Given the description of an element on the screen output the (x, y) to click on. 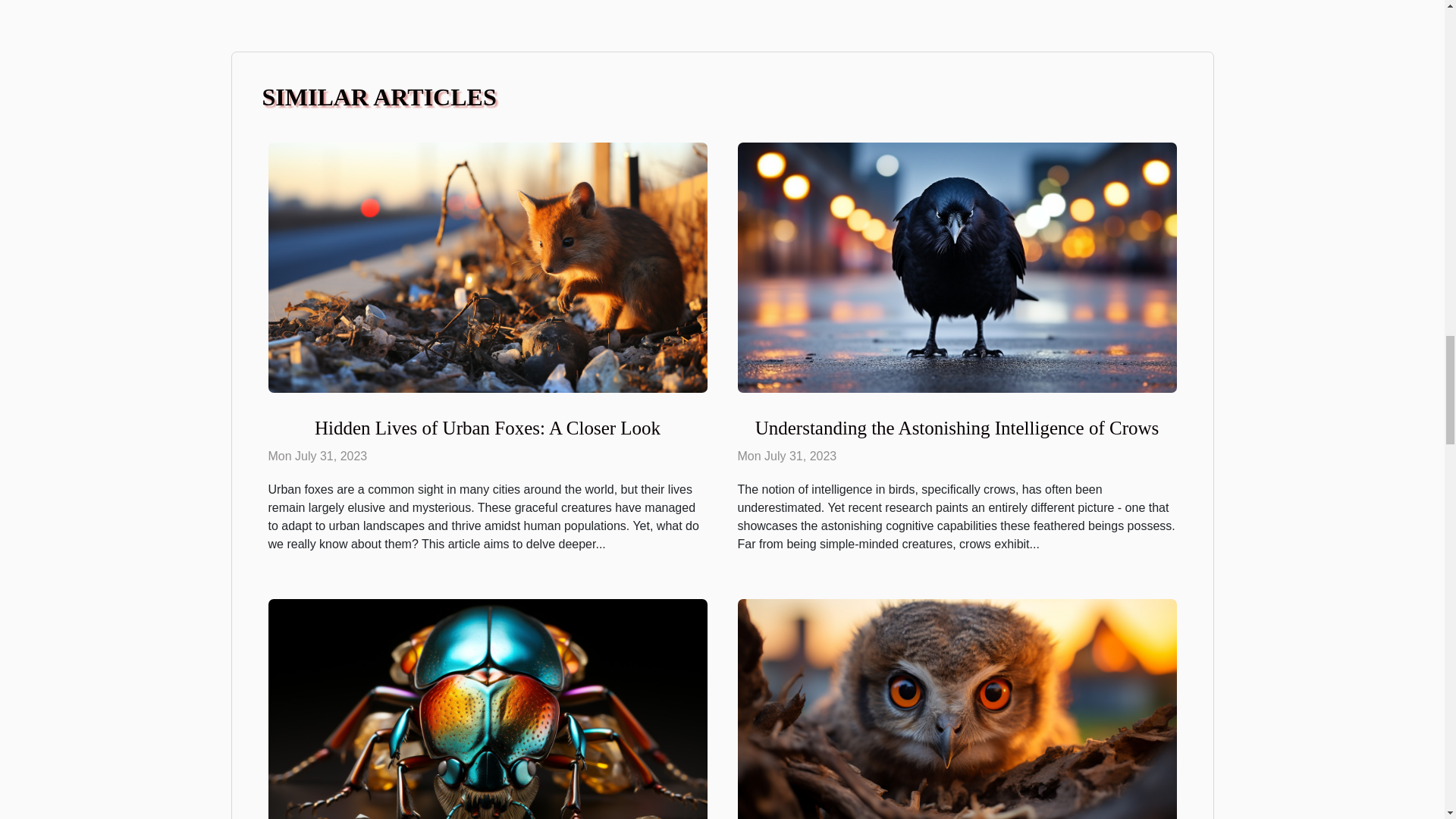
Hidden Lives of Urban Foxes: A Closer Look (487, 427)
Understanding the Astonishing Intelligence of Crows (956, 427)
Living Jewels: The Colorful World of Beetles (487, 723)
Fascinating Night Habits of Owls: Beyond the Hooting (956, 723)
Hidden Lives of Urban Foxes: A Closer Look (487, 427)
Understanding the Astonishing Intelligence of Crows (956, 266)
Understanding the Astonishing Intelligence of Crows (956, 427)
Hidden Lives of Urban Foxes: A Closer Look (487, 266)
